Given the description of an element on the screen output the (x, y) to click on. 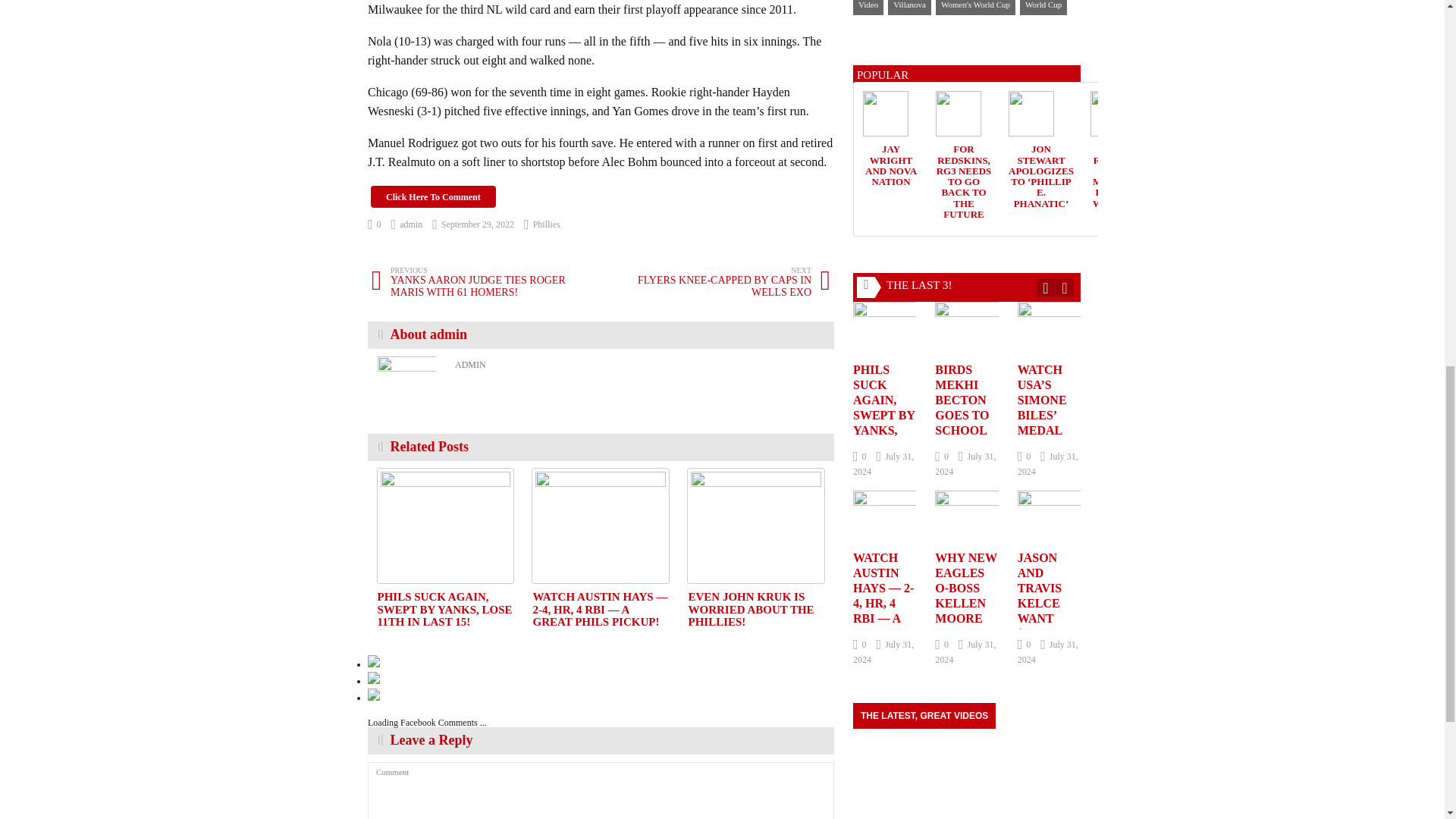
Posts by admin (407, 224)
PHILS SUCK AGAIN, SWEPT BY YANKS, LOSE 11TH IN LAST 15! (445, 525)
0 (374, 224)
PHILS SUCK AGAIN, SWEPT BY YANKS, LOSE 11TH IN LAST 15! (444, 609)
Click Here To Comment (433, 196)
PHILS SUCK AGAIN, SWEPT BY YANKS, LOSE 11TH IN LAST 15! (444, 609)
admin (407, 224)
EVEN JOHN KRUK IS WORRIED ABOUT THE PHILLIES! (755, 525)
ADMIN (470, 364)
September 29, 2022 (472, 224)
Phillies (485, 282)
